Given the description of an element on the screen output the (x, y) to click on. 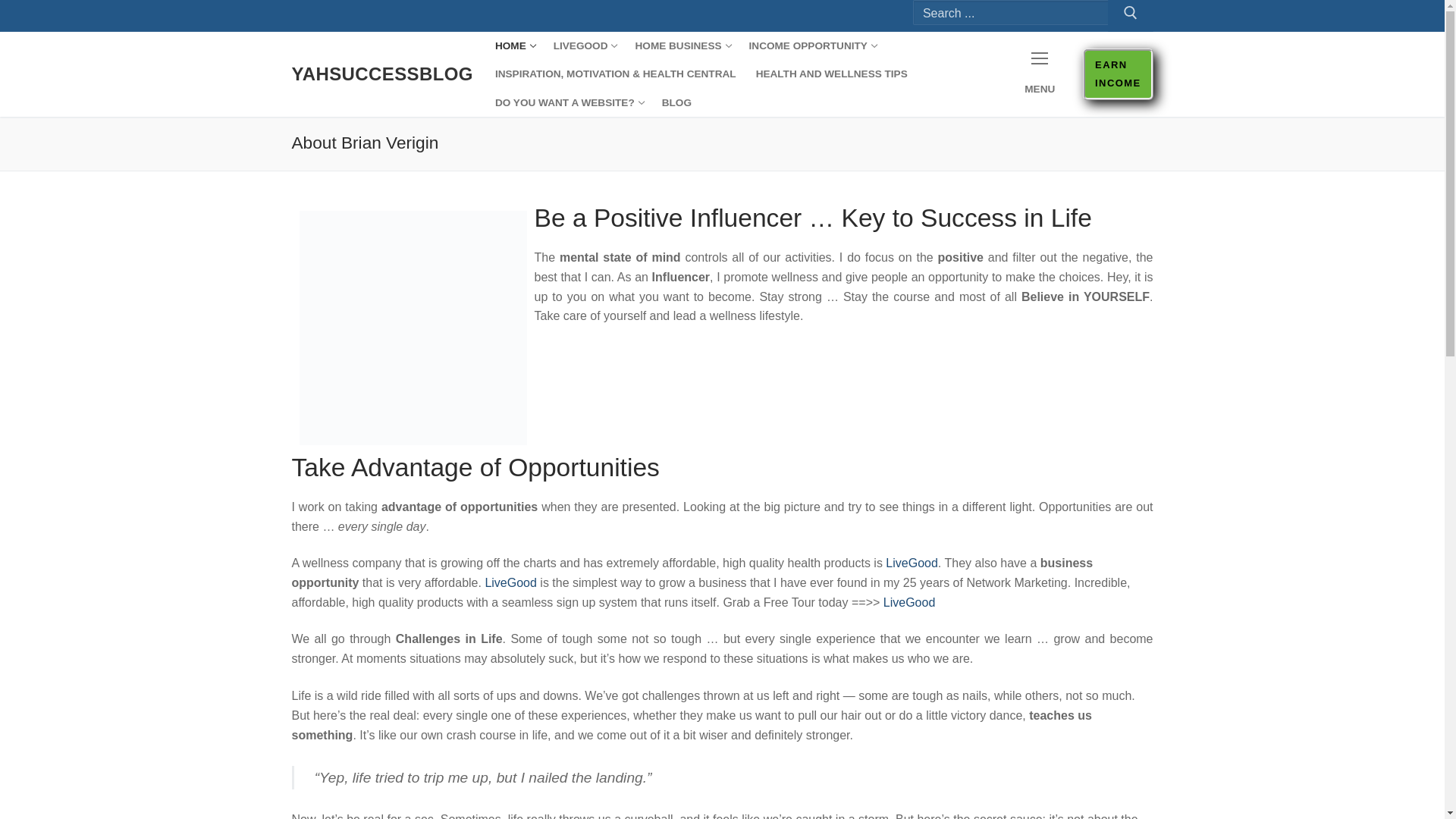
Search for: (513, 45)
YAHSUCCESSBLOG (681, 45)
